Given the description of an element on the screen output the (x, y) to click on. 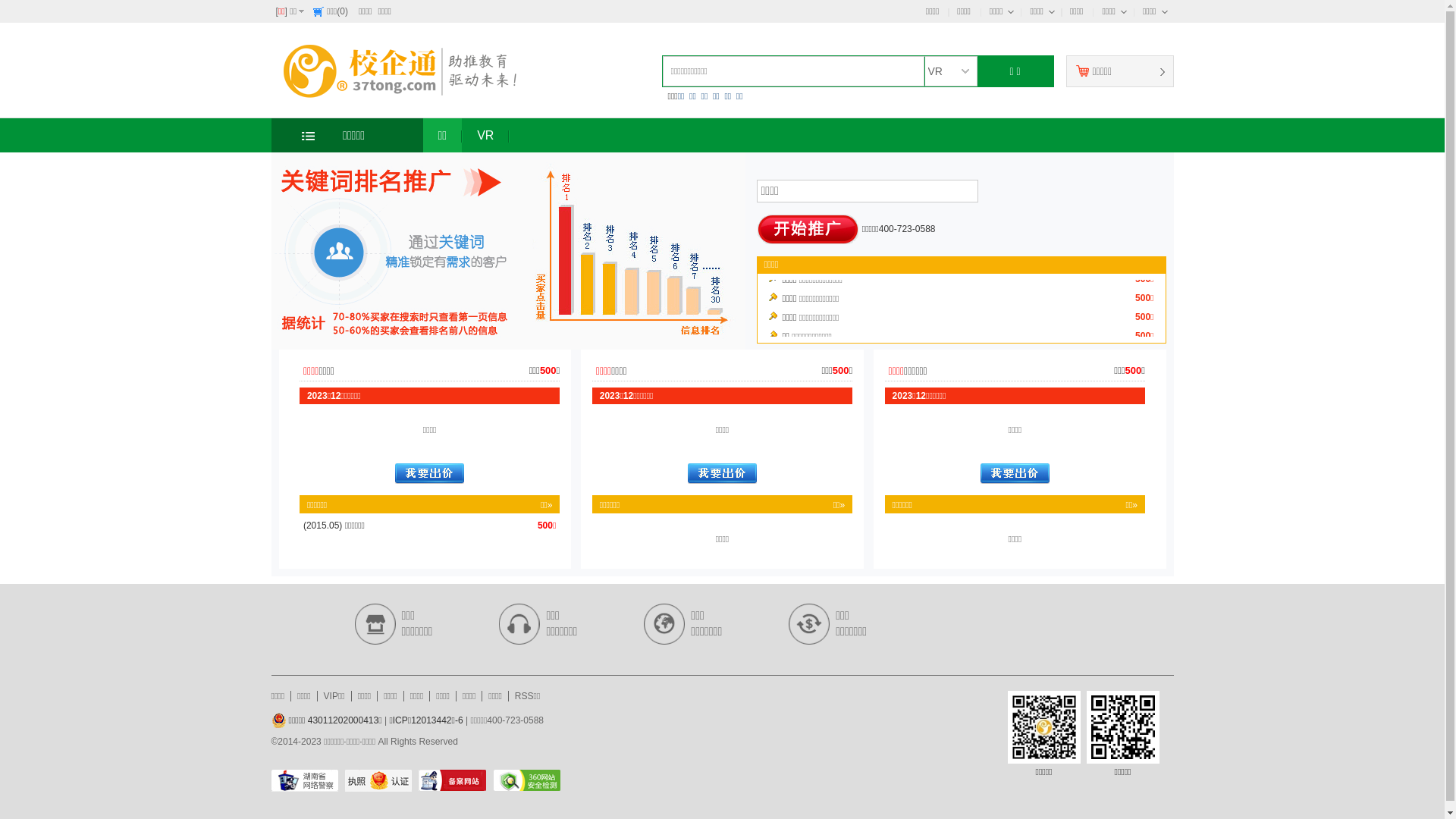
VR Element type: text (484, 135)
VR Element type: text (949, 71)
